Given the description of an element on the screen output the (x, y) to click on. 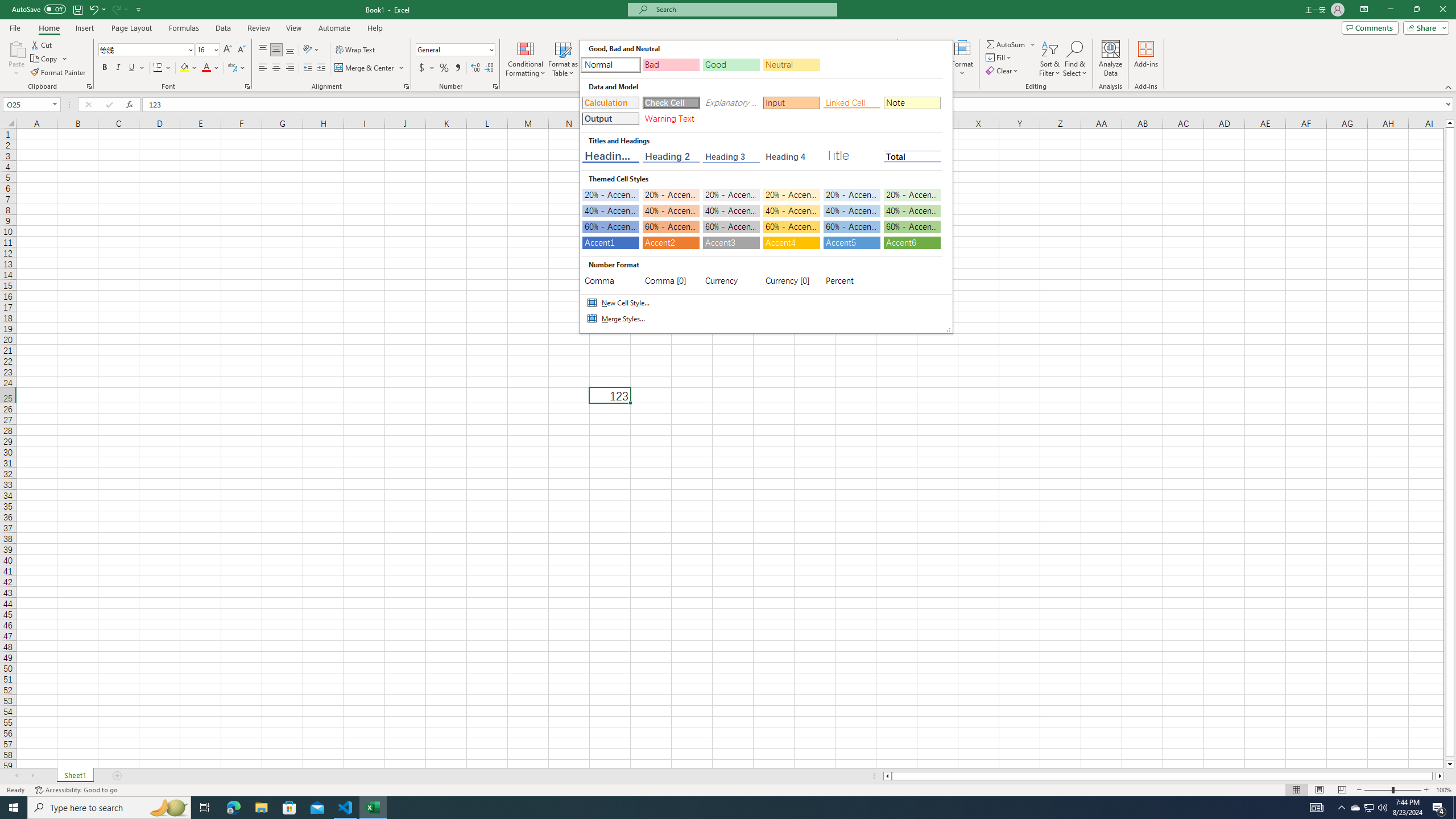
Orientation (311, 49)
Format Cell Alignment (405, 85)
Class: Net UI Tool Window (766, 187)
Merge & Center (369, 67)
Q2790: 100% (1382, 807)
Show desktop (1454, 807)
Increase Decimal (474, 67)
